Given the description of an element on the screen output the (x, y) to click on. 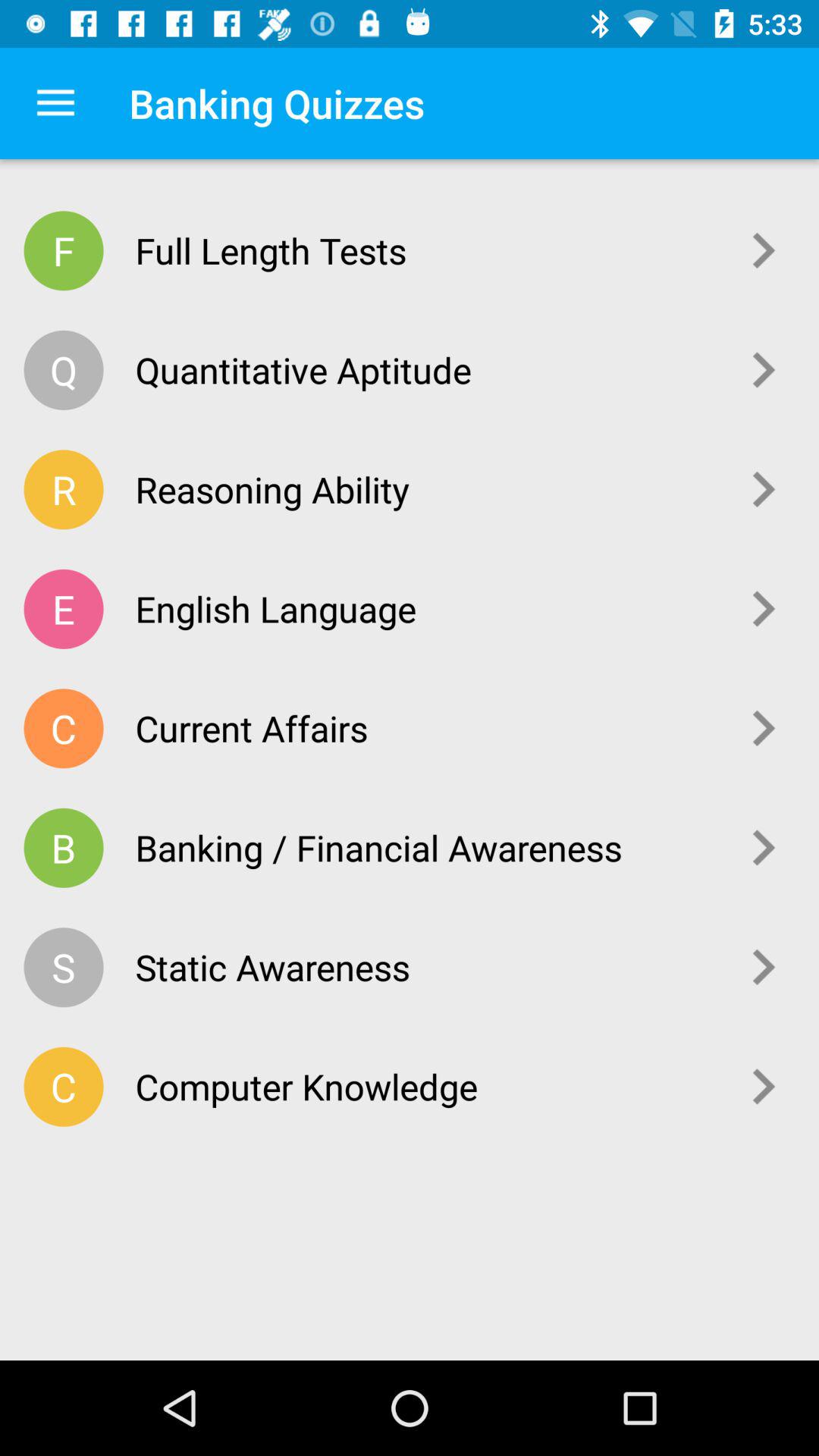
select the icon to the left of banking / financial awareness item (63, 847)
